Given the description of an element on the screen output the (x, y) to click on. 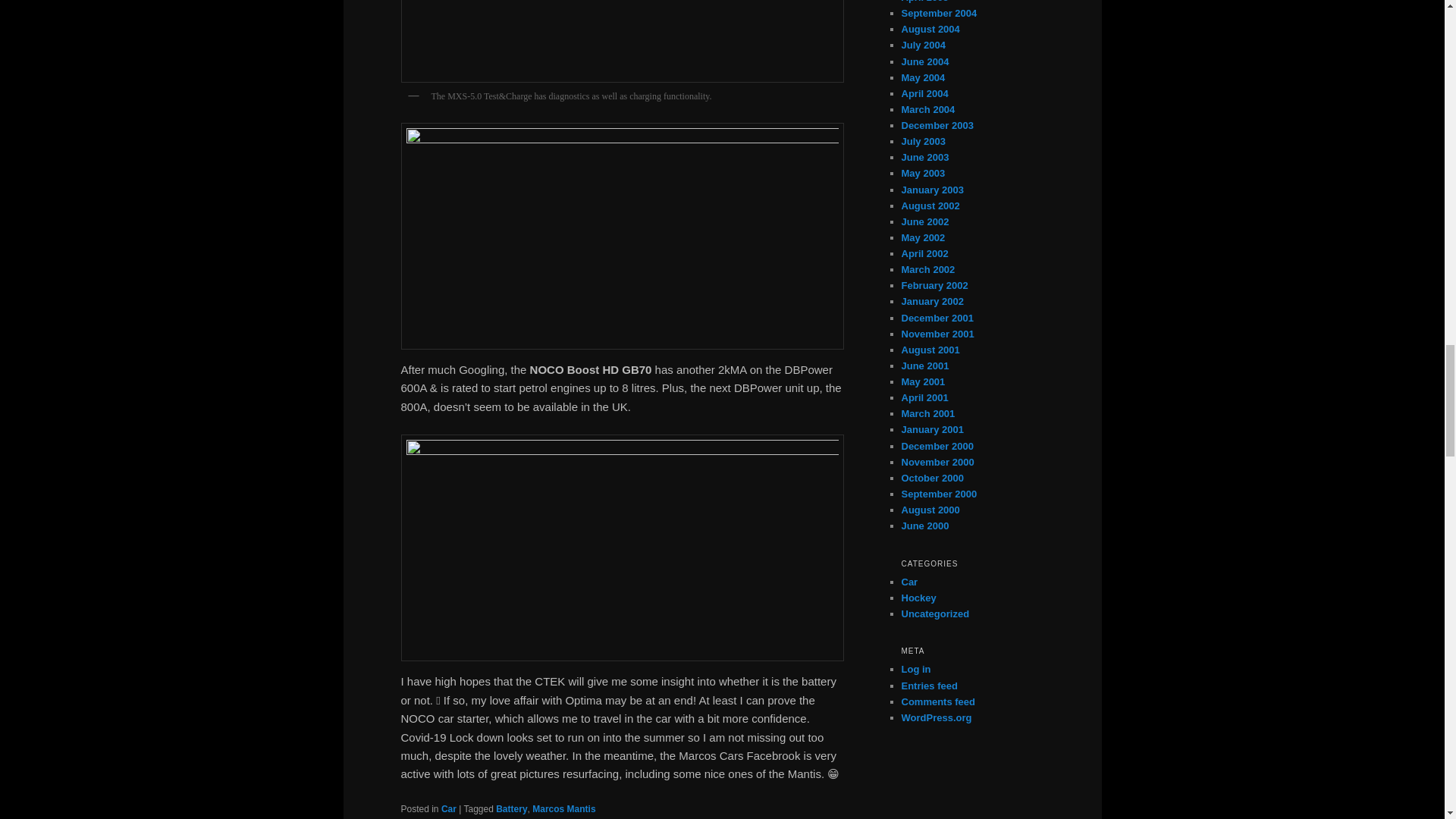
Marcos Mantis (563, 808)
Car (449, 808)
Battery (511, 808)
